Given the description of an element on the screen output the (x, y) to click on. 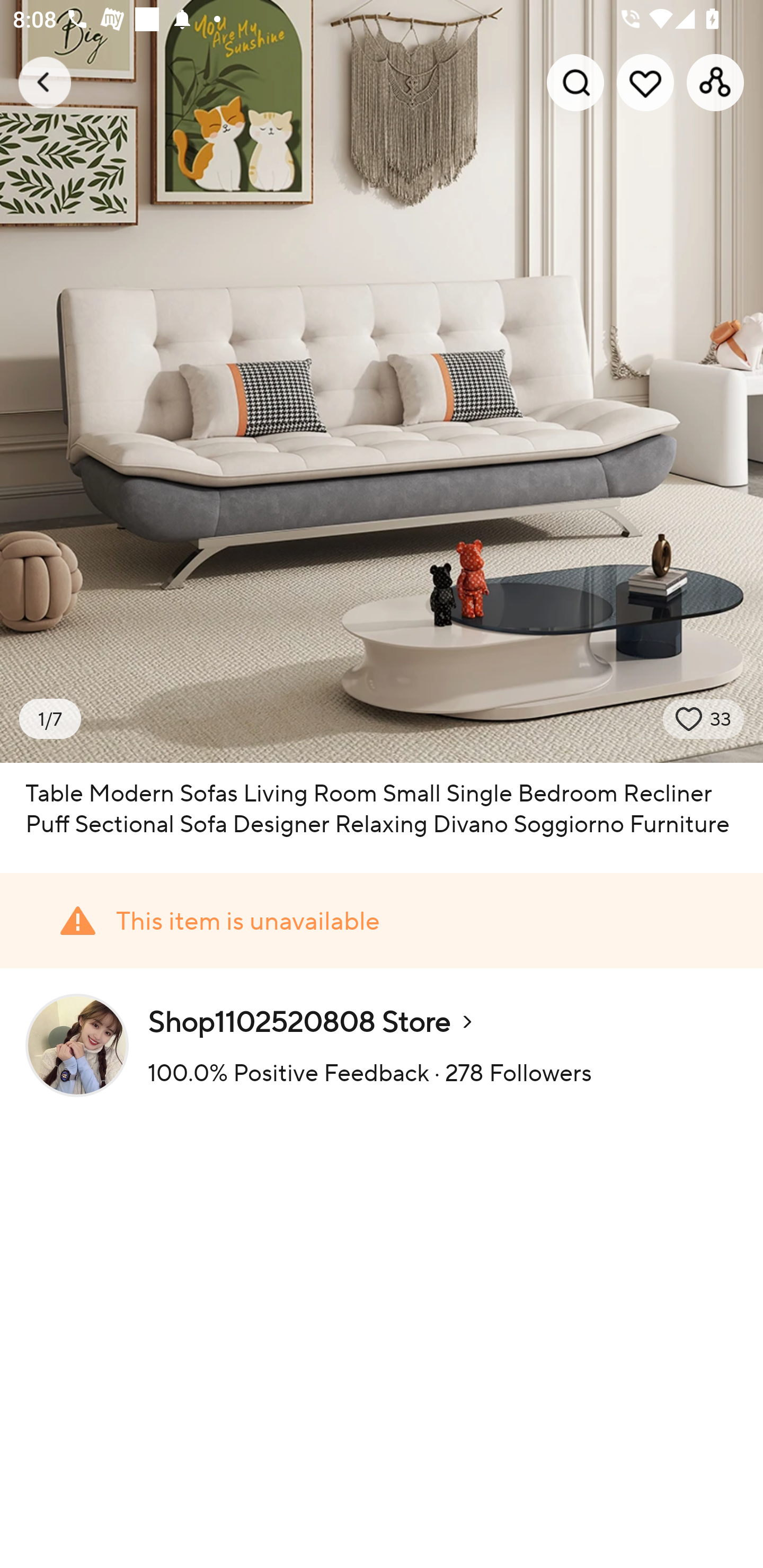
Navigate up (44, 82)
wish state 33 (703, 718)
